Given the description of an element on the screen output the (x, y) to click on. 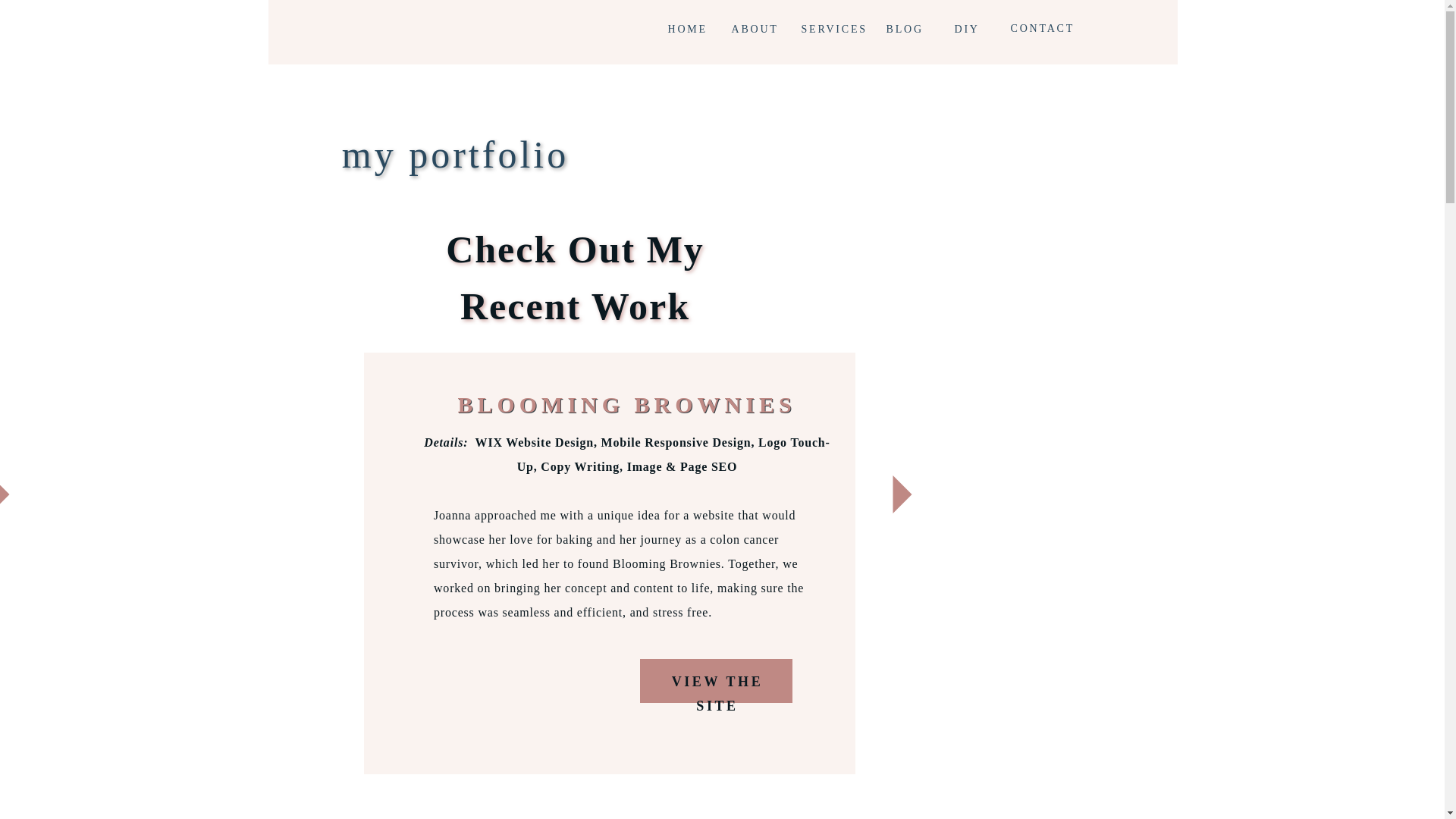
CONTACT (1046, 31)
SERVICES (836, 32)
BLOG (921, 32)
ABOUT (766, 32)
HOME (702, 32)
VIEW THE SITE (717, 680)
DIY (975, 29)
